Given the description of an element on the screen output the (x, y) to click on. 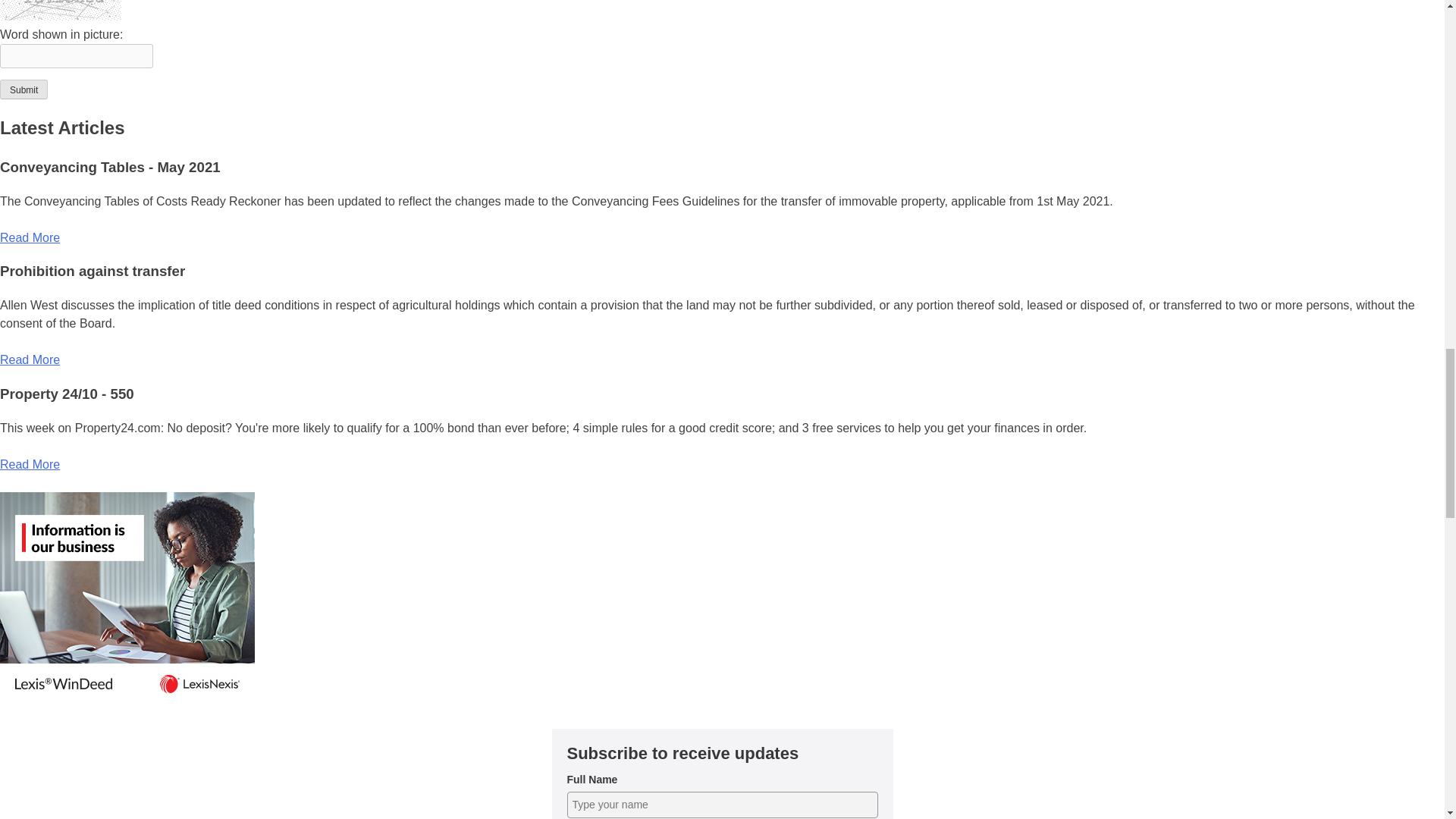
Submit (24, 89)
Read More (29, 463)
Read More (29, 237)
Read More (29, 359)
